Given the description of an element on the screen output the (x, y) to click on. 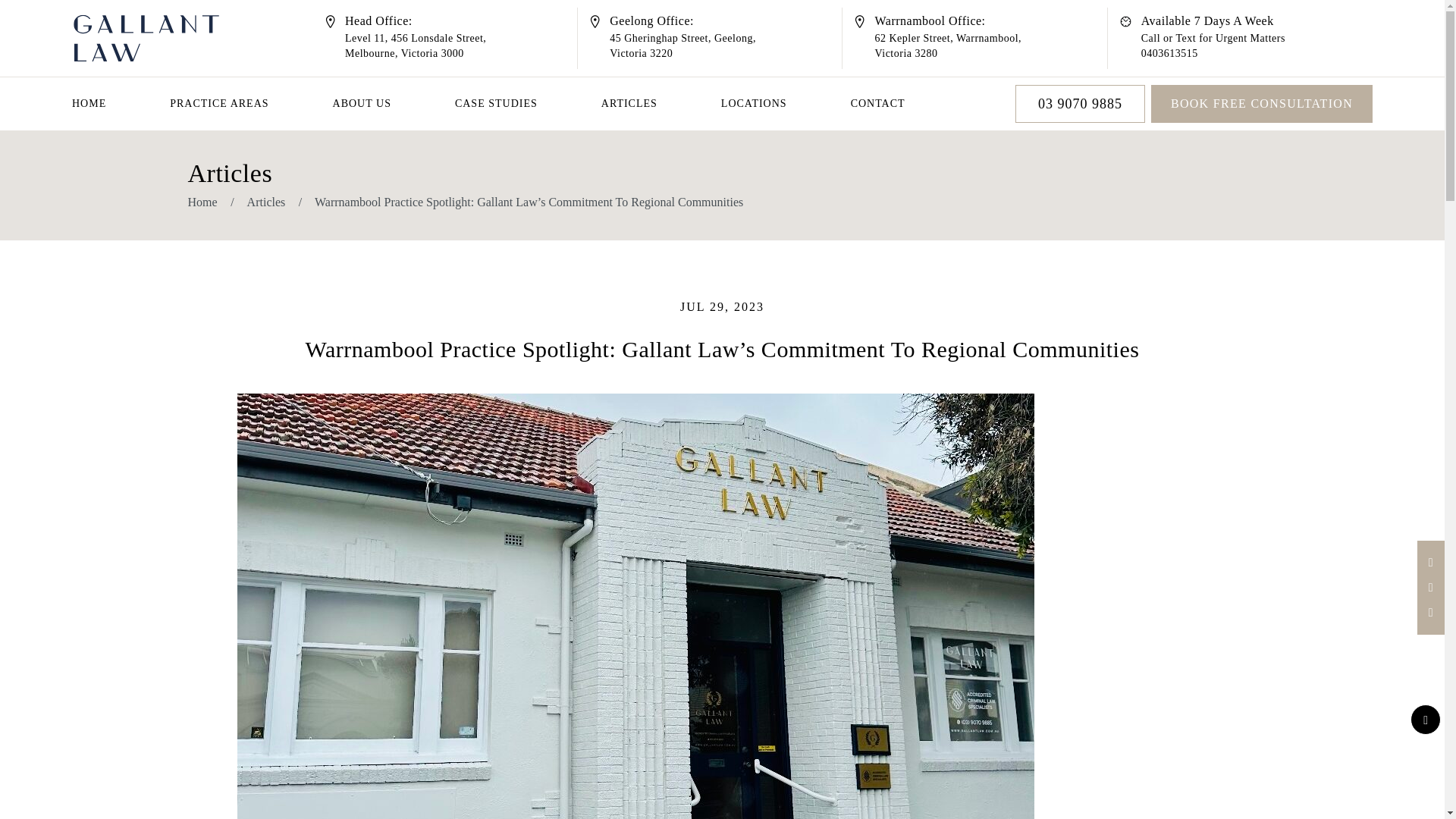
LOCATIONS (785, 103)
PRACTICE AREAS (250, 103)
CASE STUDIES (527, 103)
ABOUT US (682, 45)
ARTICLES (393, 103)
HOME (948, 45)
0403613515 (660, 103)
